Given the description of an element on the screen output the (x, y) to click on. 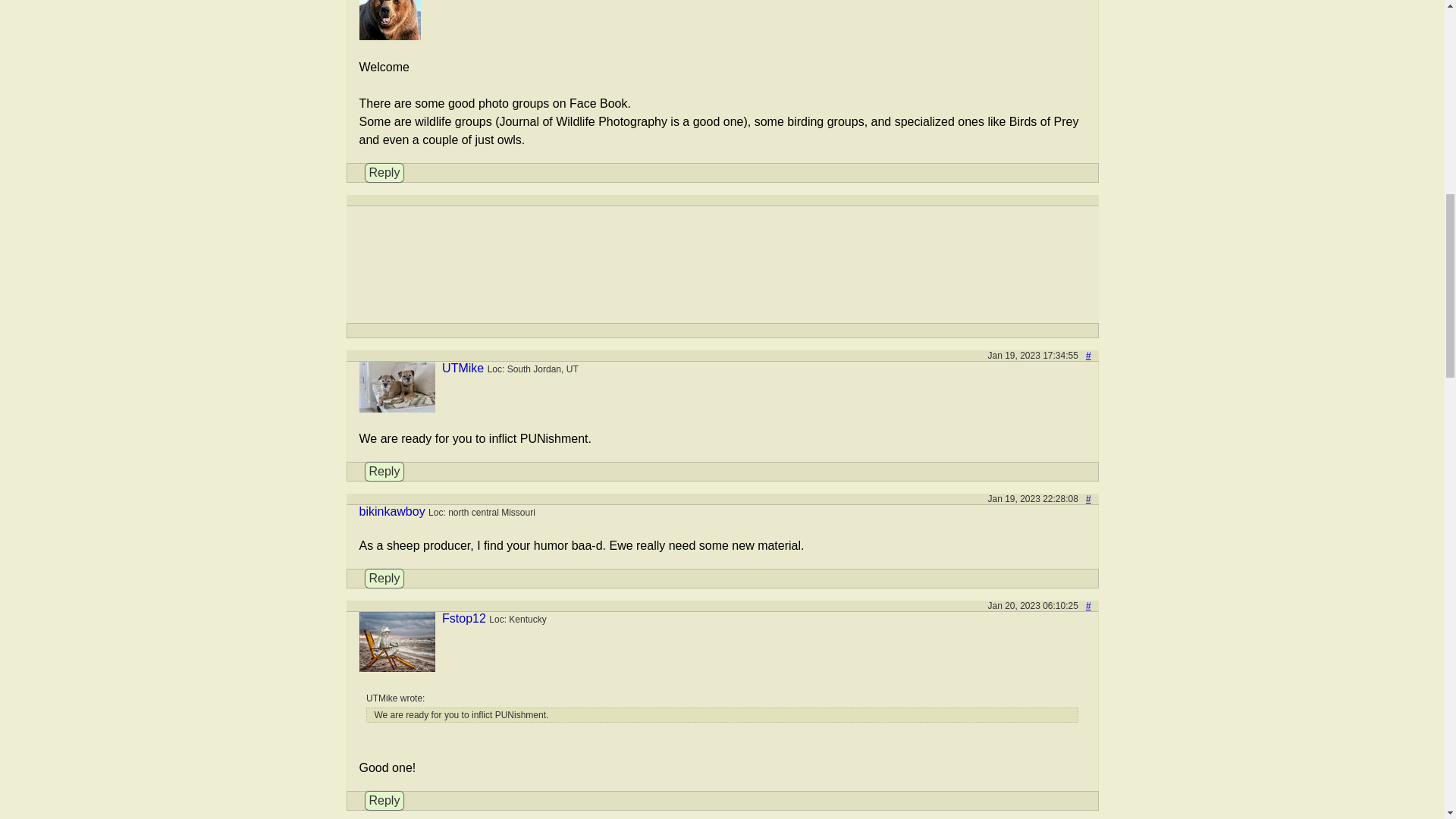
Reply (384, 471)
Reply (384, 172)
UTMike (462, 367)
bikinkawboy (392, 511)
Reply (384, 578)
Fstop12 (464, 617)
Reply (384, 800)
